Given the description of an element on the screen output the (x, y) to click on. 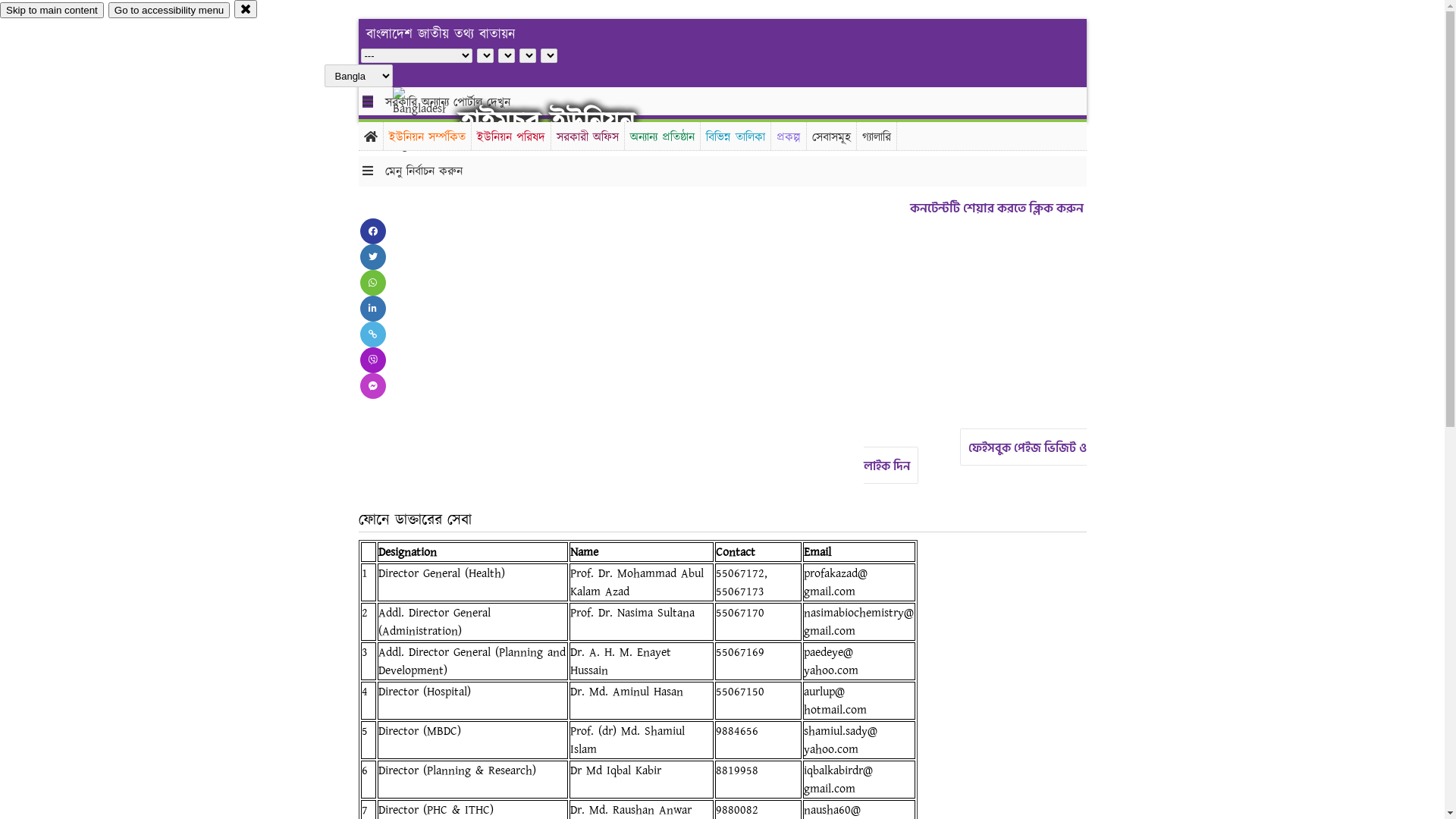
Skip to main content Element type: text (51, 10)

                
             Element type: hover (431, 120)
Go to accessibility menu Element type: text (168, 10)
close Element type: hover (245, 9)
